Given the description of an element on the screen output the (x, y) to click on. 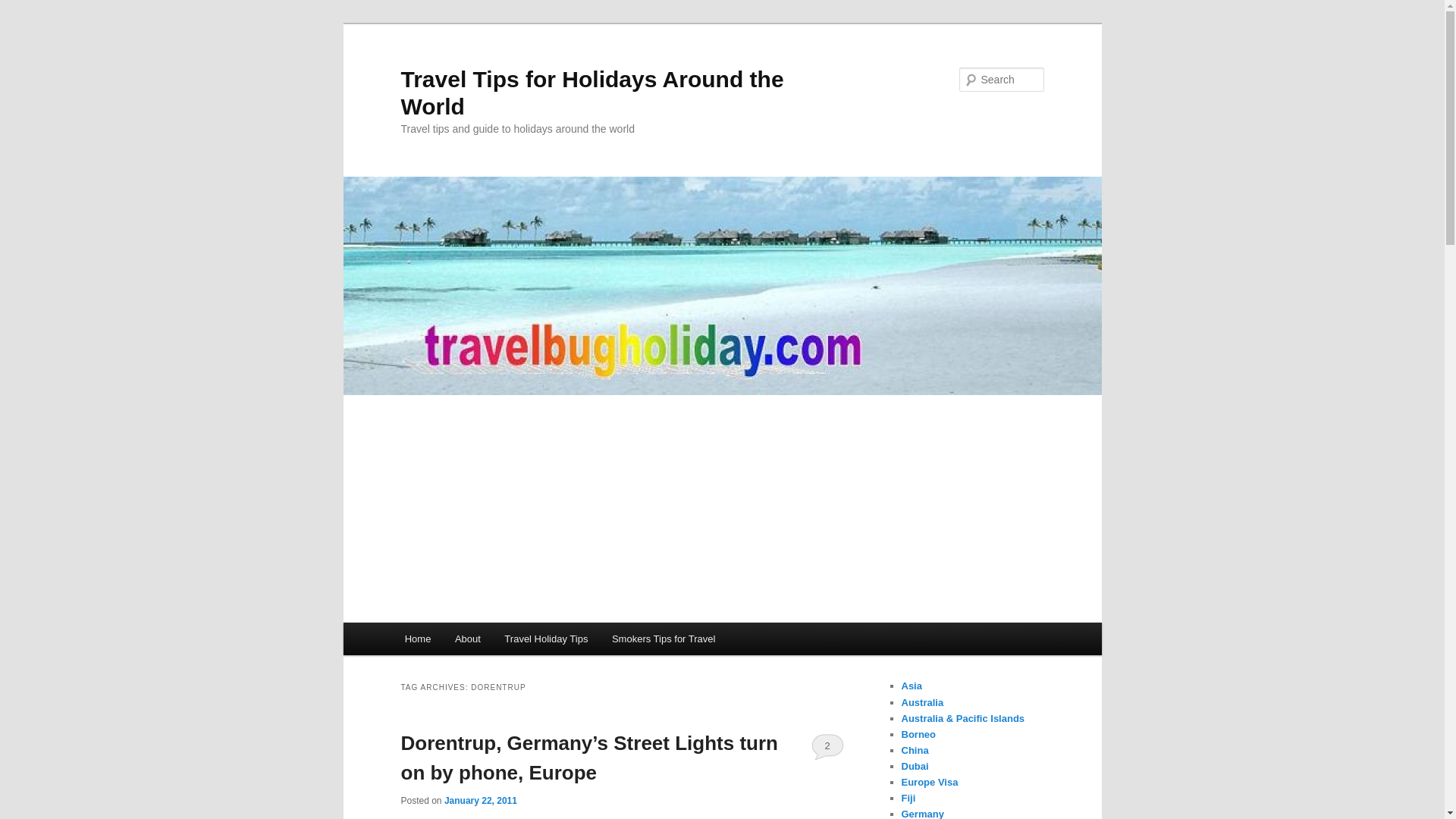
Asia (911, 685)
2 (827, 746)
Europe Visa (929, 781)
Search (24, 8)
Dubai (914, 766)
Borneo (918, 734)
January 22, 2011 (480, 800)
About (467, 638)
Travel Tips for Holidays Around the World (591, 92)
8:47 am (480, 800)
Travel Holiday Tips (546, 638)
China (914, 749)
Australia (922, 702)
